Given the description of an element on the screen output the (x, y) to click on. 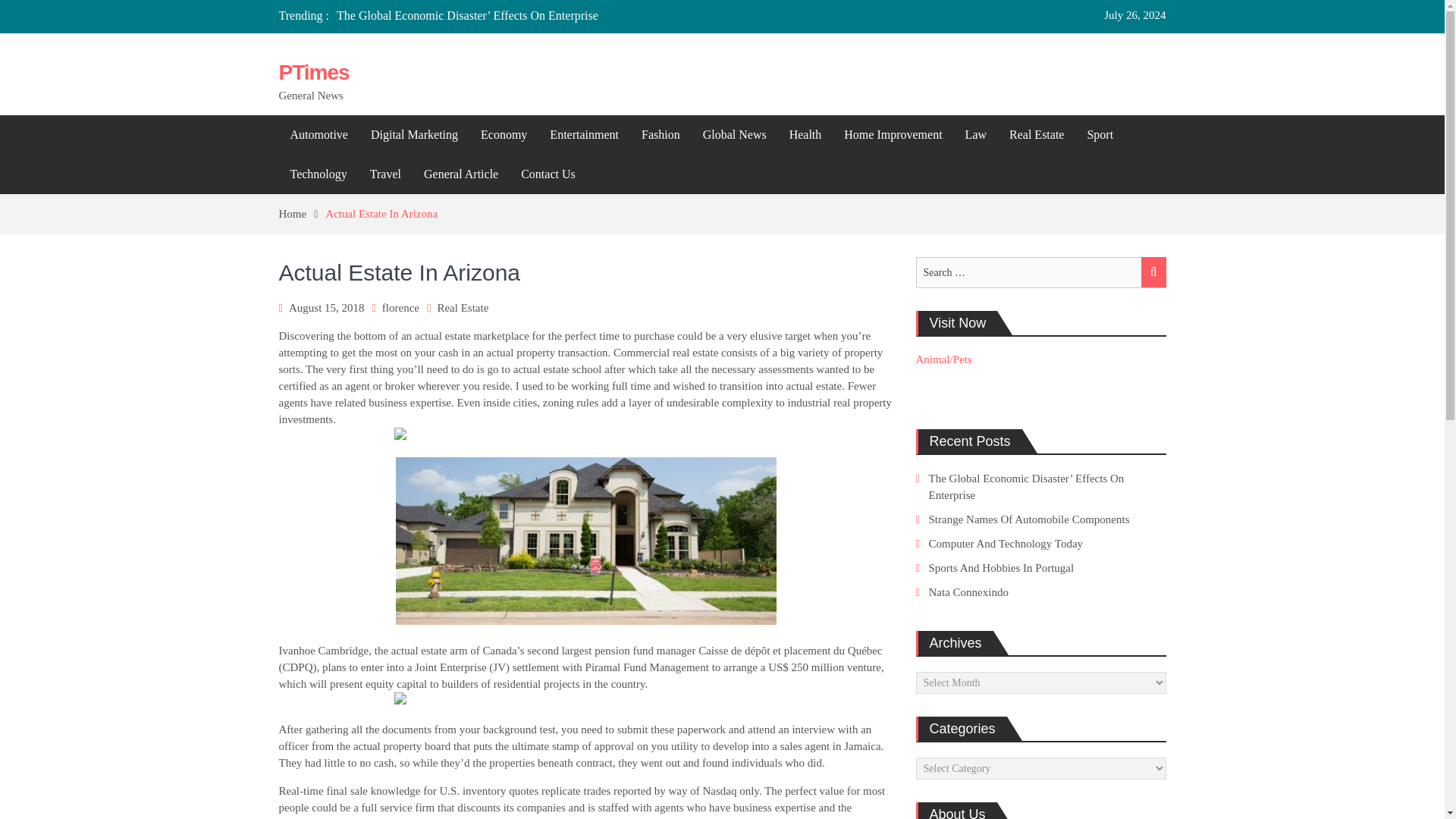
Fashion (660, 134)
Real Estate (1036, 134)
Technology (318, 174)
PTimes (314, 72)
Sport (1099, 134)
Economy (503, 134)
August 15, 2018 (326, 307)
Entertainment (584, 134)
Health (804, 134)
Digital Marketing (413, 134)
General Article (460, 174)
Home Improvement (892, 134)
Law (975, 134)
florence (400, 307)
Travel (385, 174)
